Given the description of an element on the screen output the (x, y) to click on. 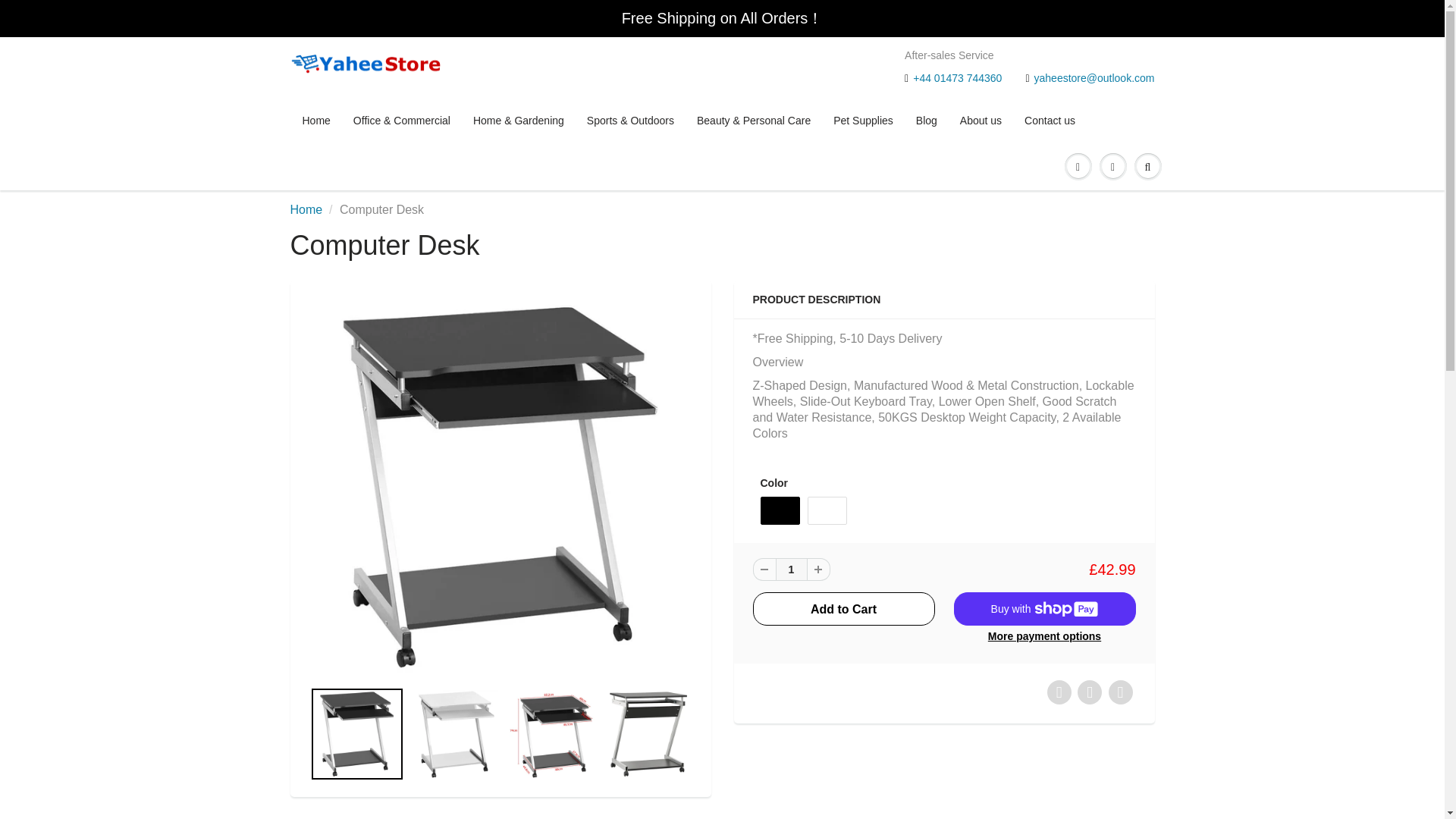
Pet Supplies (863, 120)
1 (790, 568)
Home (316, 120)
Home (305, 209)
Blog (926, 120)
Contact us (1049, 120)
About us (981, 120)
Add to Cart (843, 608)
Home (305, 209)
Add to Cart (843, 608)
